Given the description of an element on the screen output the (x, y) to click on. 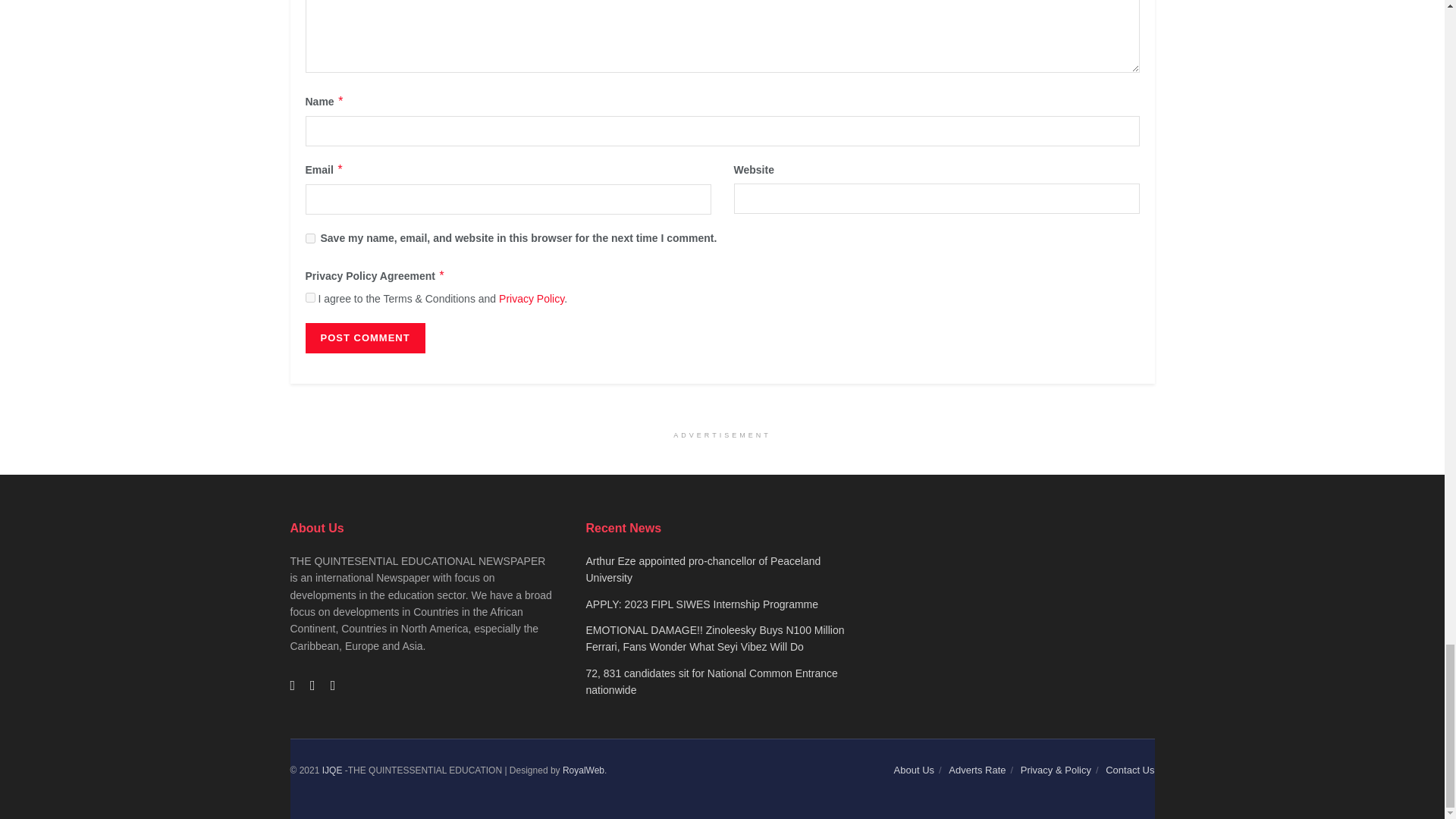
on (309, 297)
Post Comment (364, 337)
THE QUINTESSENTIAL EDUCATION (331, 769)
yes (309, 238)
RoyalWeb (583, 769)
